Given the description of an element on the screen output the (x, y) to click on. 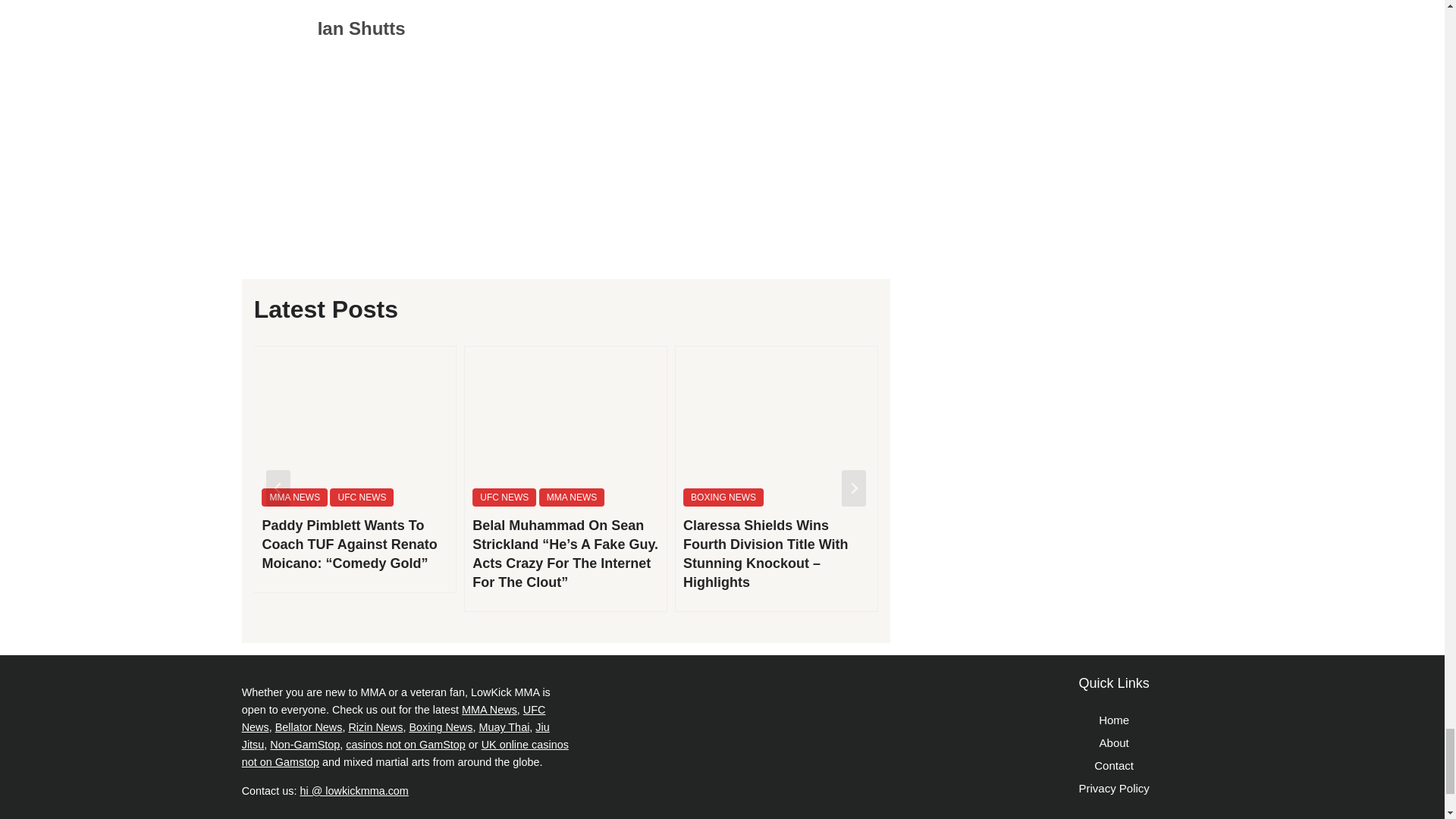
Posts by Ian Shutts (361, 28)
